Given the description of an element on the screen output the (x, y) to click on. 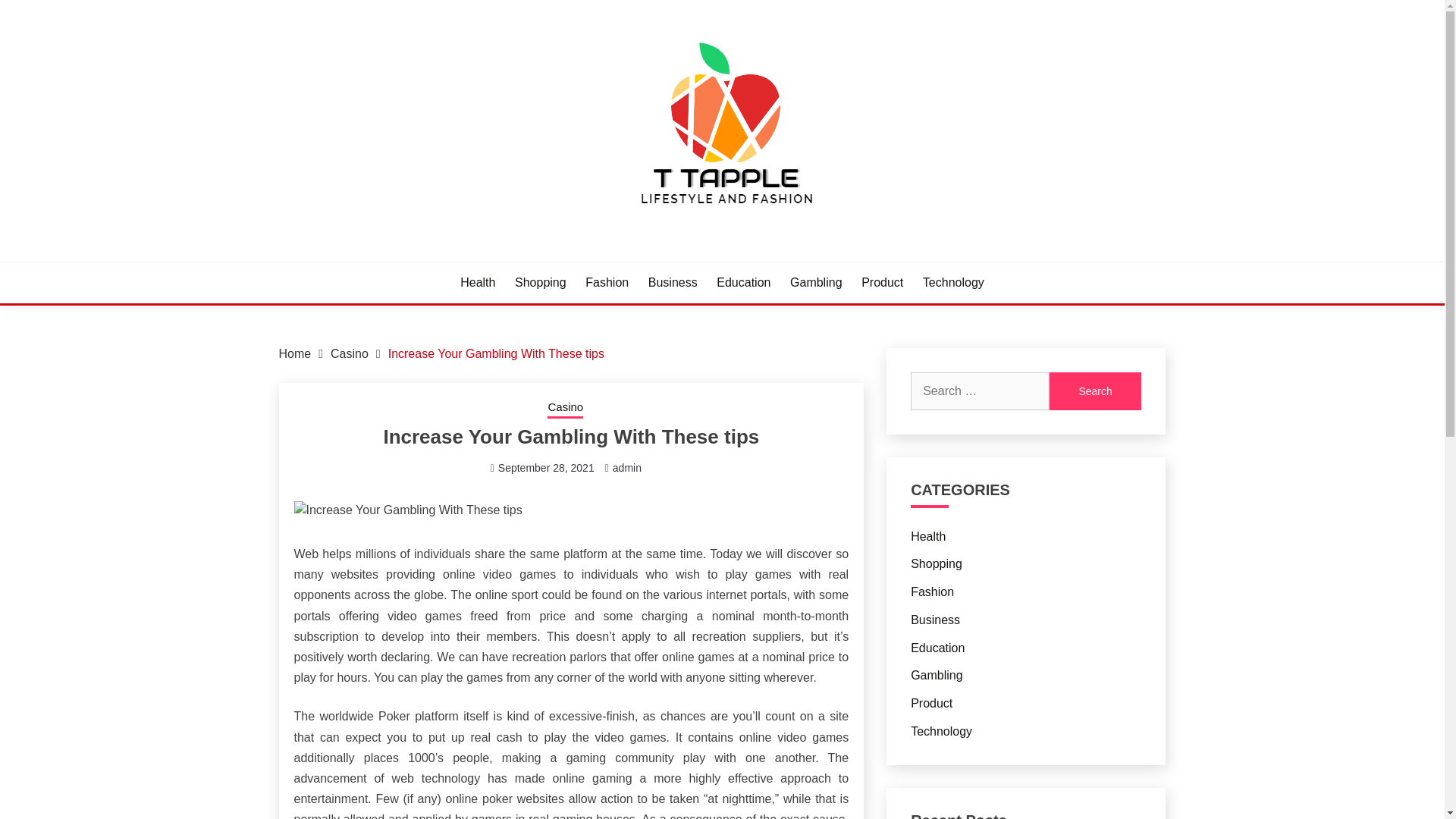
admin (627, 467)
Product (881, 282)
Business (672, 282)
Business (935, 619)
Search (1095, 391)
Shopping (540, 282)
Gambling (936, 675)
Gambling (815, 282)
Health (927, 535)
September 28, 2021 (545, 467)
